Given the description of an element on the screen output the (x, y) to click on. 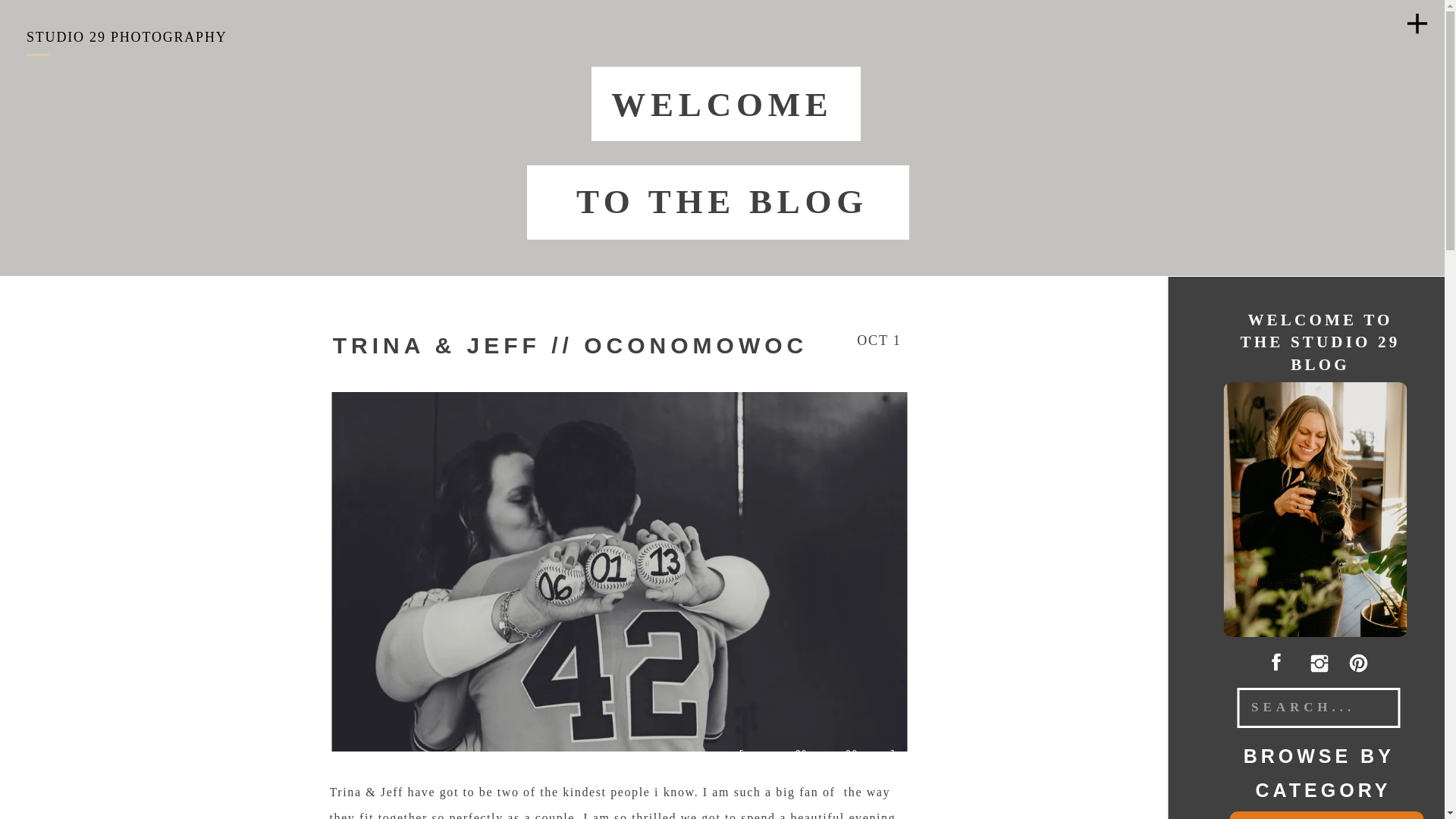
WELCOME (721, 101)
STUDIO 29 PHOTOGRAPHY (126, 33)
TO THE BLOG (721, 199)
